Given the description of an element on the screen output the (x, y) to click on. 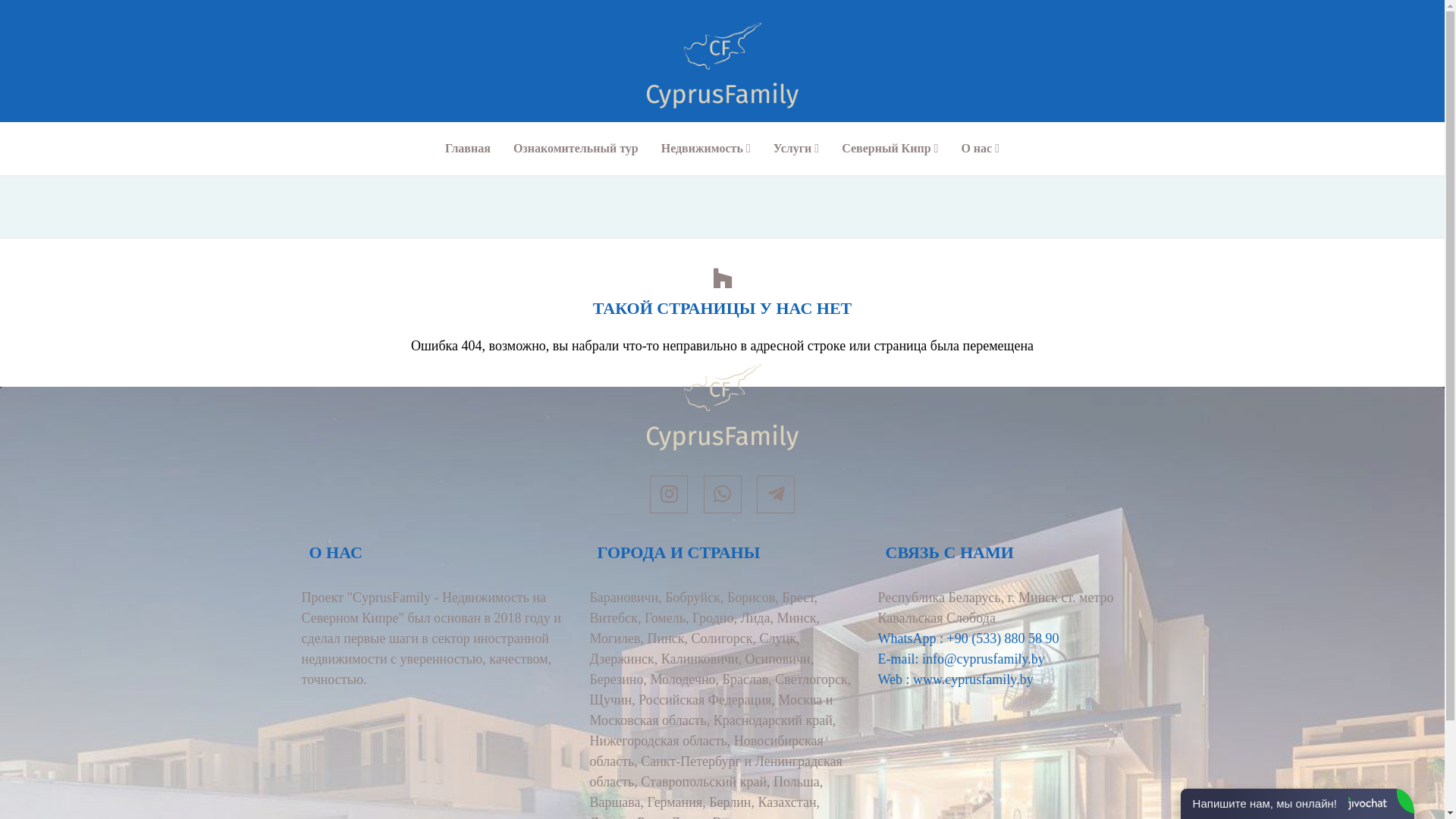
E-mail: info@cyprusfamily.by Element type: text (961, 658)
WhatsApp : +90 (533) 880 58 90 Element type: text (968, 638)
Web : www.cyprusfamily.by Element type: text (955, 679)
